Given the description of an element on the screen output the (x, y) to click on. 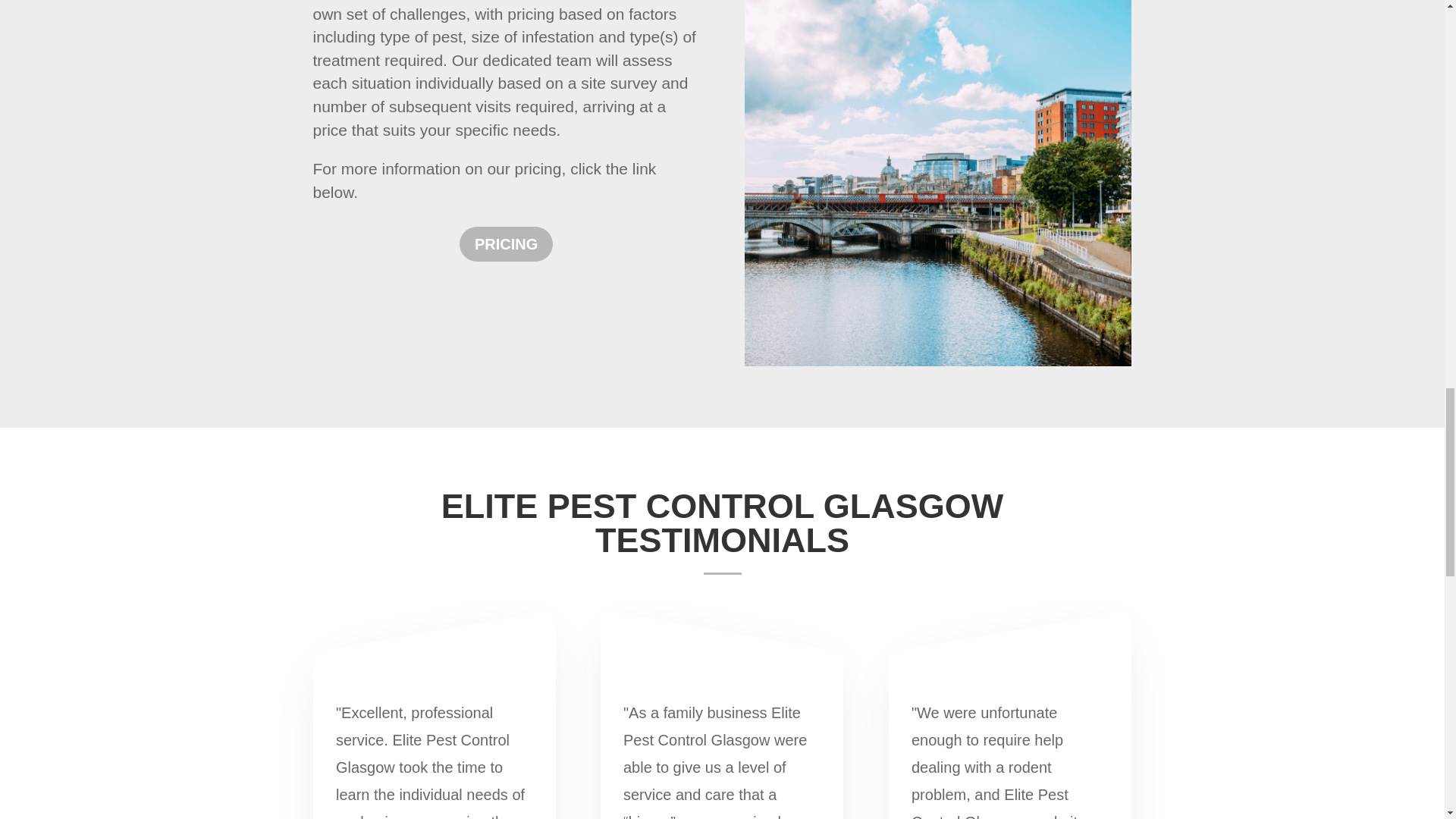
PRICING (506, 243)
